Given the description of an element on the screen output the (x, y) to click on. 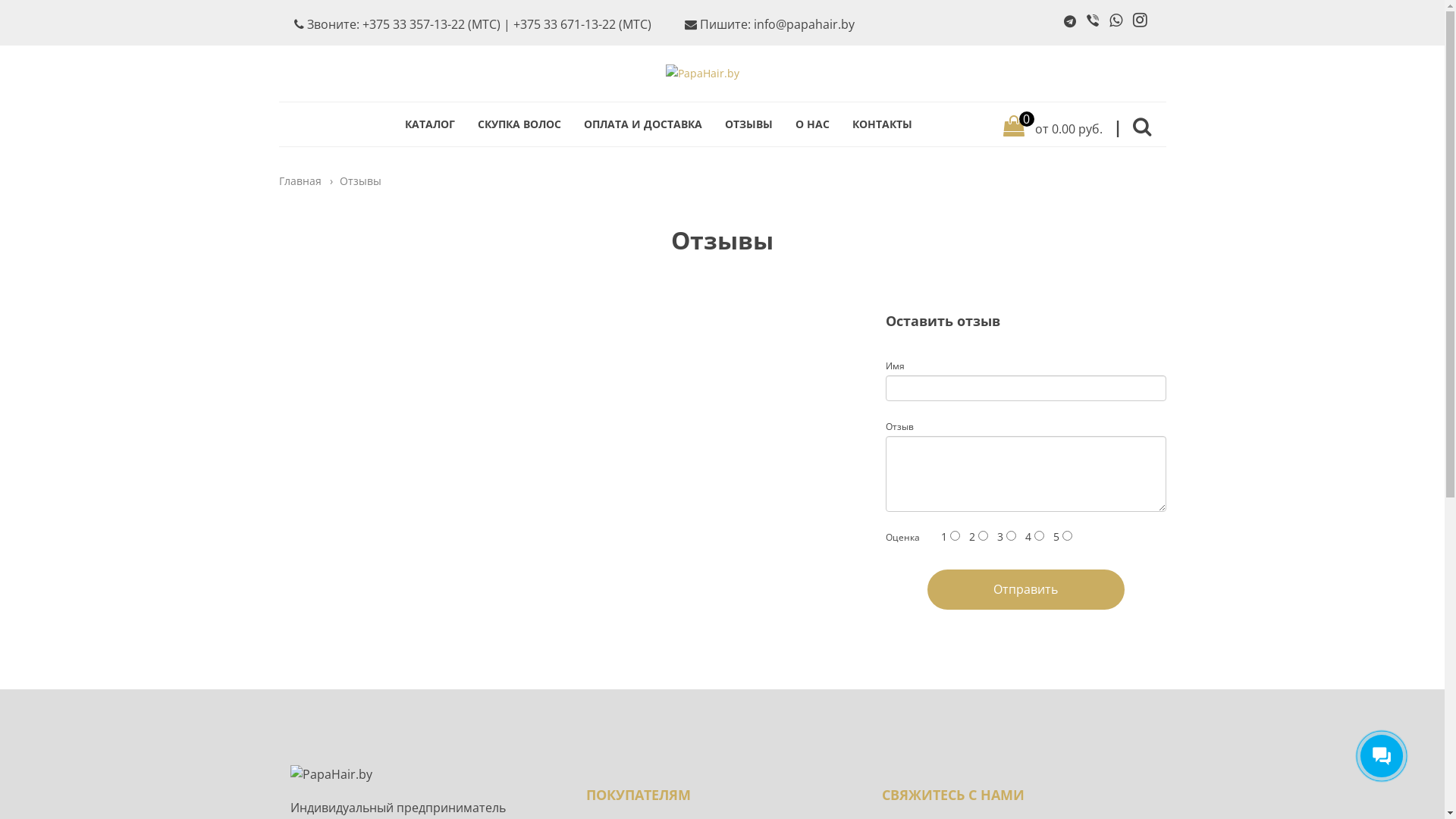
Telegram Element type: hover (1069, 20)
Viber Element type: hover (1091, 20)
Instagram Element type: hover (1139, 20)
info@papahair.by Element type: text (803, 23)
PapaHair.by Element type: hover (722, 73)
WhatsApp Element type: hover (1114, 20)
PapaHair.by Element type: hover (425, 774)
